Given the description of an element on the screen output the (x, y) to click on. 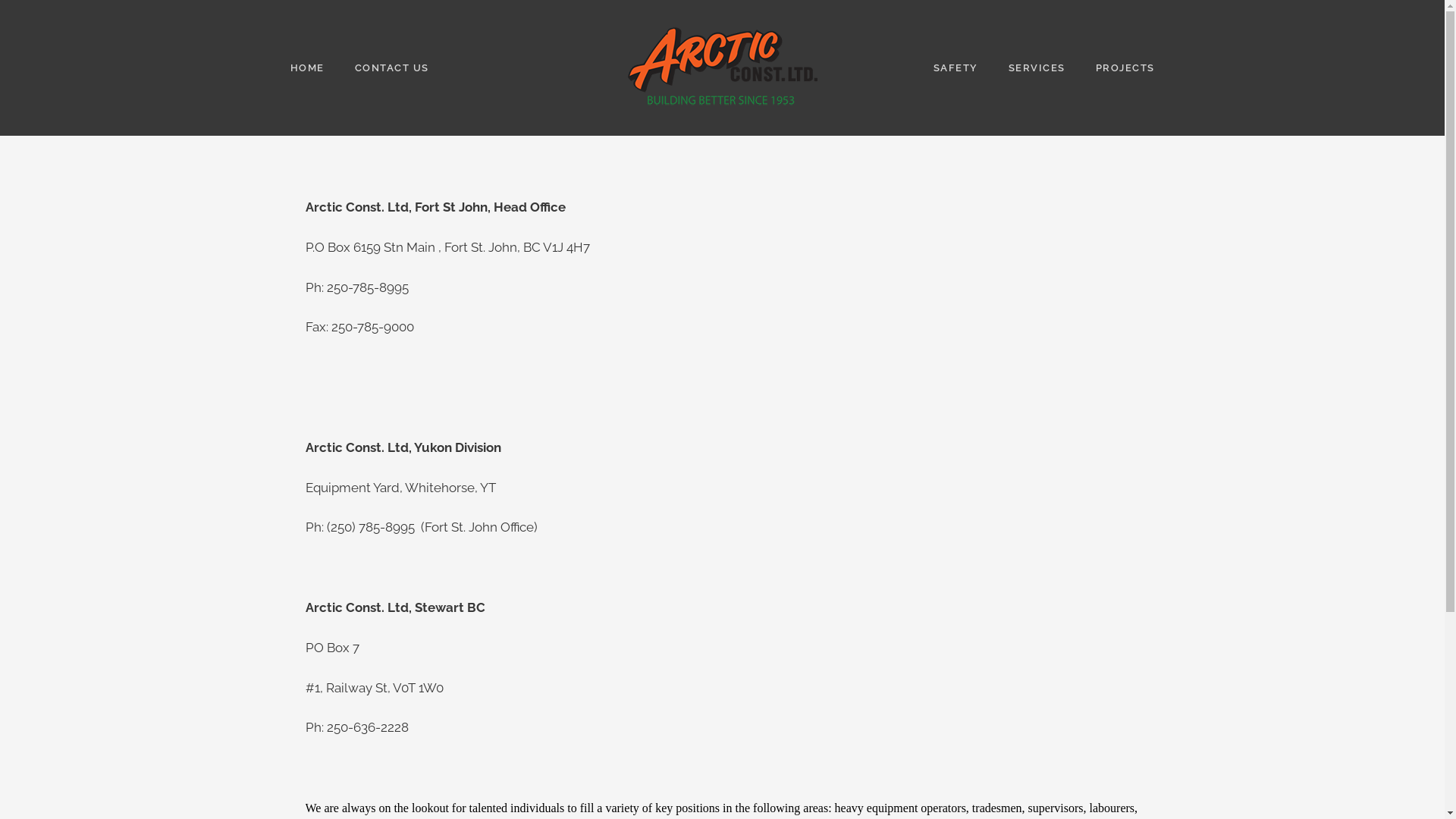
SAFETY Element type: text (954, 68)
PROJECTS Element type: text (1124, 68)
SERVICES Element type: text (1036, 68)
HOME Element type: text (306, 68)
CONTACT US Element type: text (391, 68)
